Given the description of an element on the screen output the (x, y) to click on. 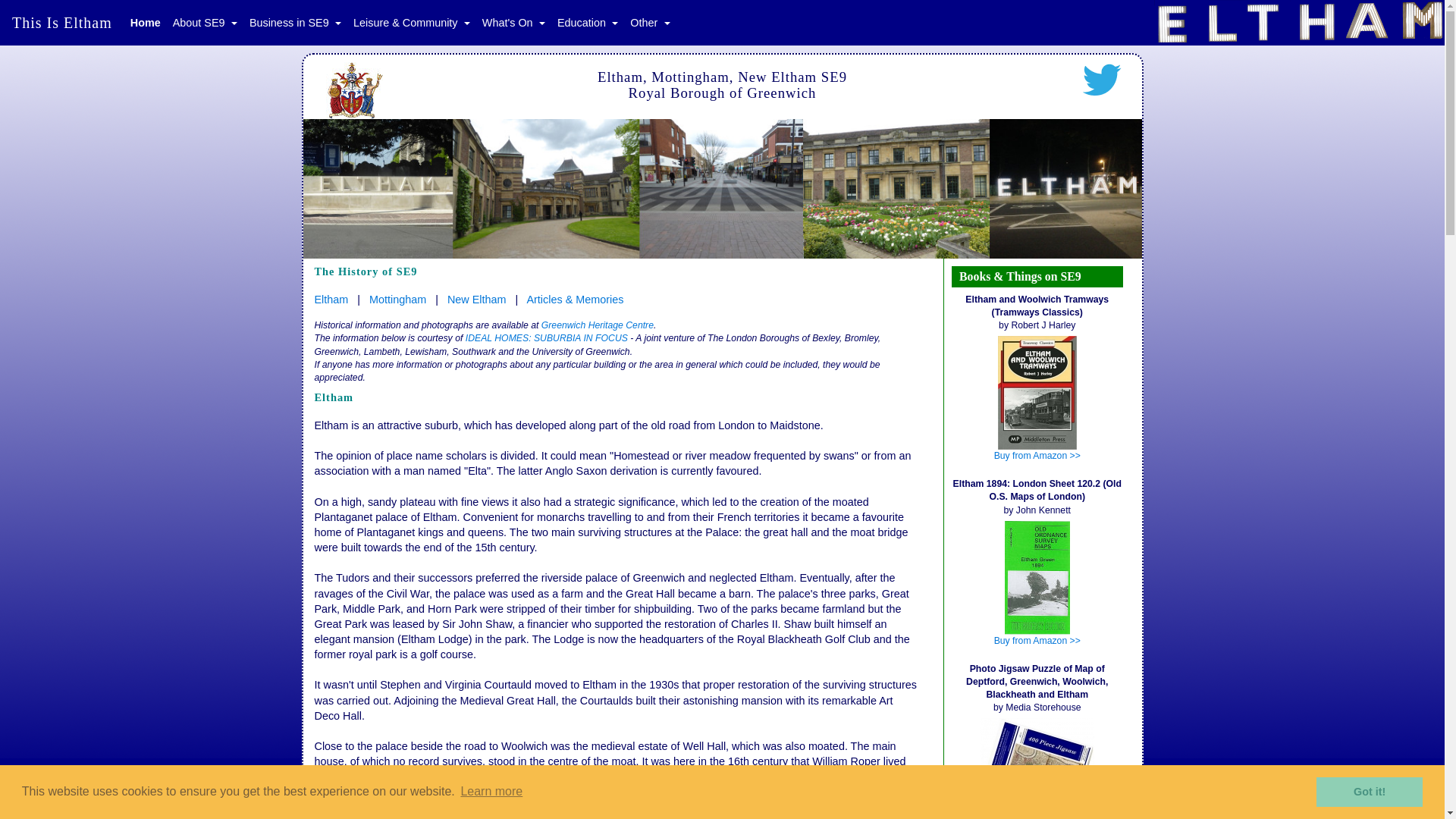
This Is Eltham (61, 22)
Got it! (1369, 791)
Learn more (491, 791)
What's On (513, 22)
About SE9 (205, 22)
Home (145, 22)
Business in SE9 (295, 22)
